Given the description of an element on the screen output the (x, y) to click on. 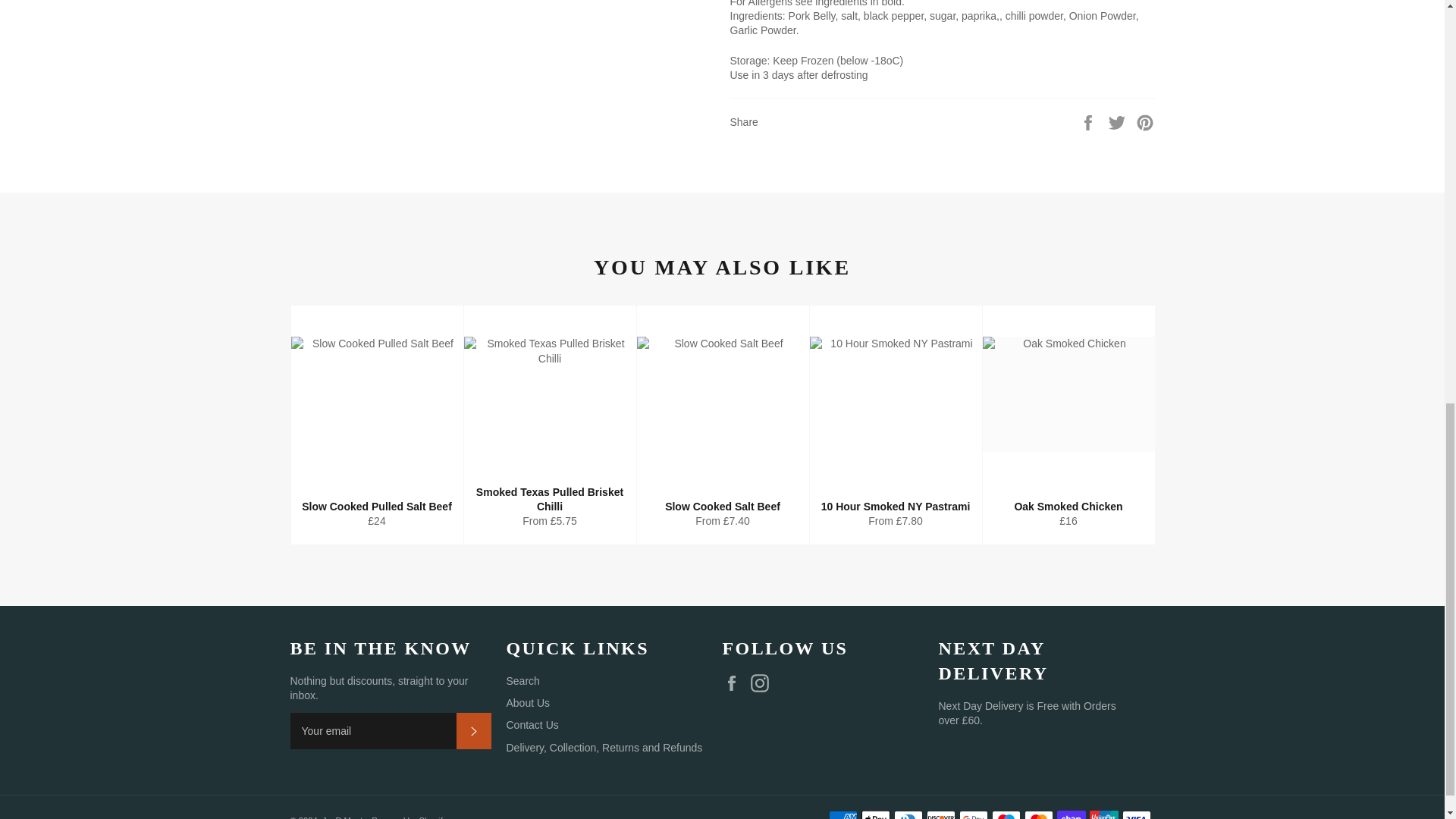
Tweet on Twitter (1118, 121)
JayD Meats on Facebook (735, 683)
JayD Meats on Instagram (763, 683)
Share on Facebook (1089, 121)
Pin on Pinterest (1144, 121)
